Given the description of an element on the screen output the (x, y) to click on. 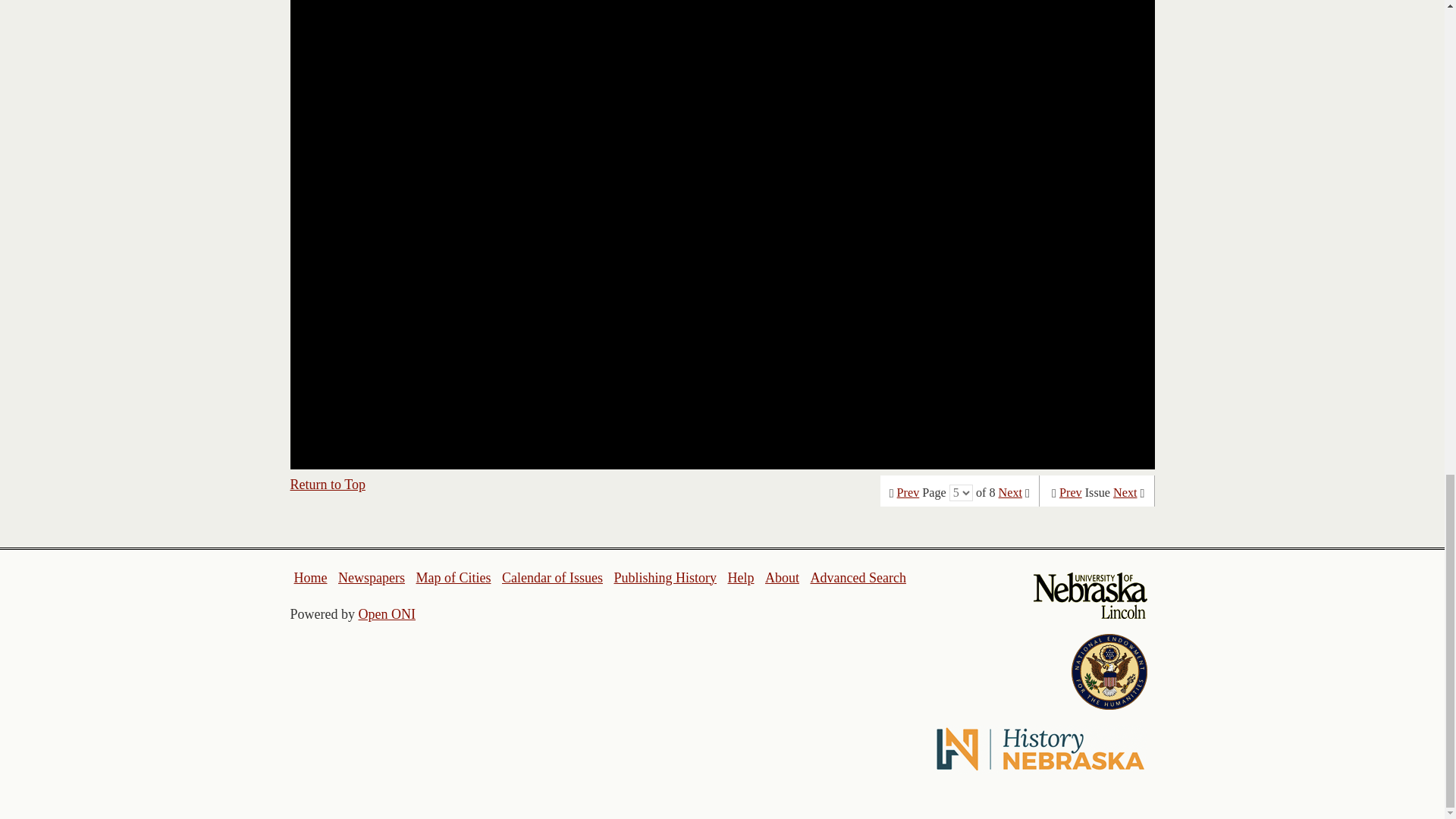
Next (1010, 492)
Open ONI (386, 613)
Publishing History (664, 577)
Next (1125, 492)
Newspapers (370, 577)
Return to Top (327, 484)
Home (310, 577)
Calendar of Issues (552, 577)
Advanced Search (857, 577)
About (782, 577)
Map of Cities (452, 577)
Help (740, 577)
Prev (908, 492)
Prev (1070, 492)
